Given the description of an element on the screen output the (x, y) to click on. 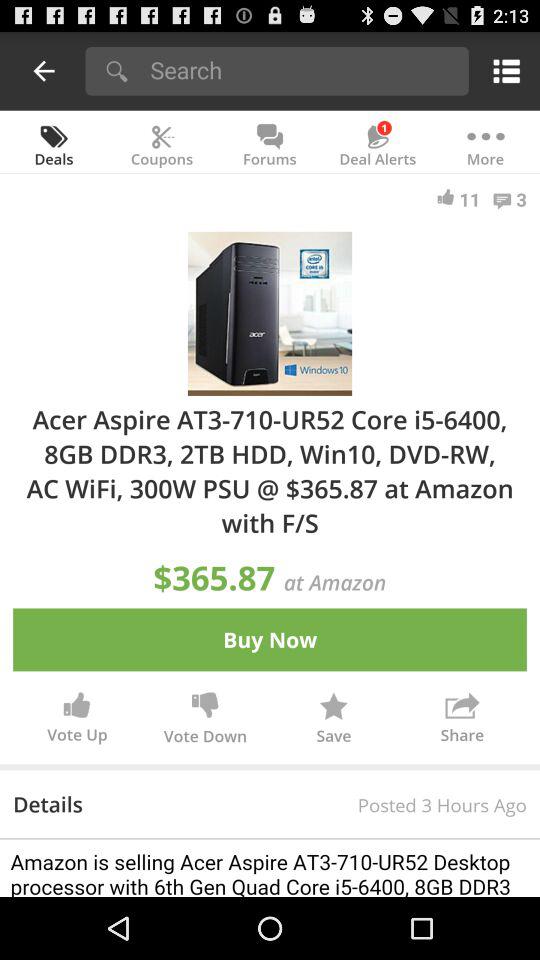
get more information (270, 868)
